Given the description of an element on the screen output the (x, y) to click on. 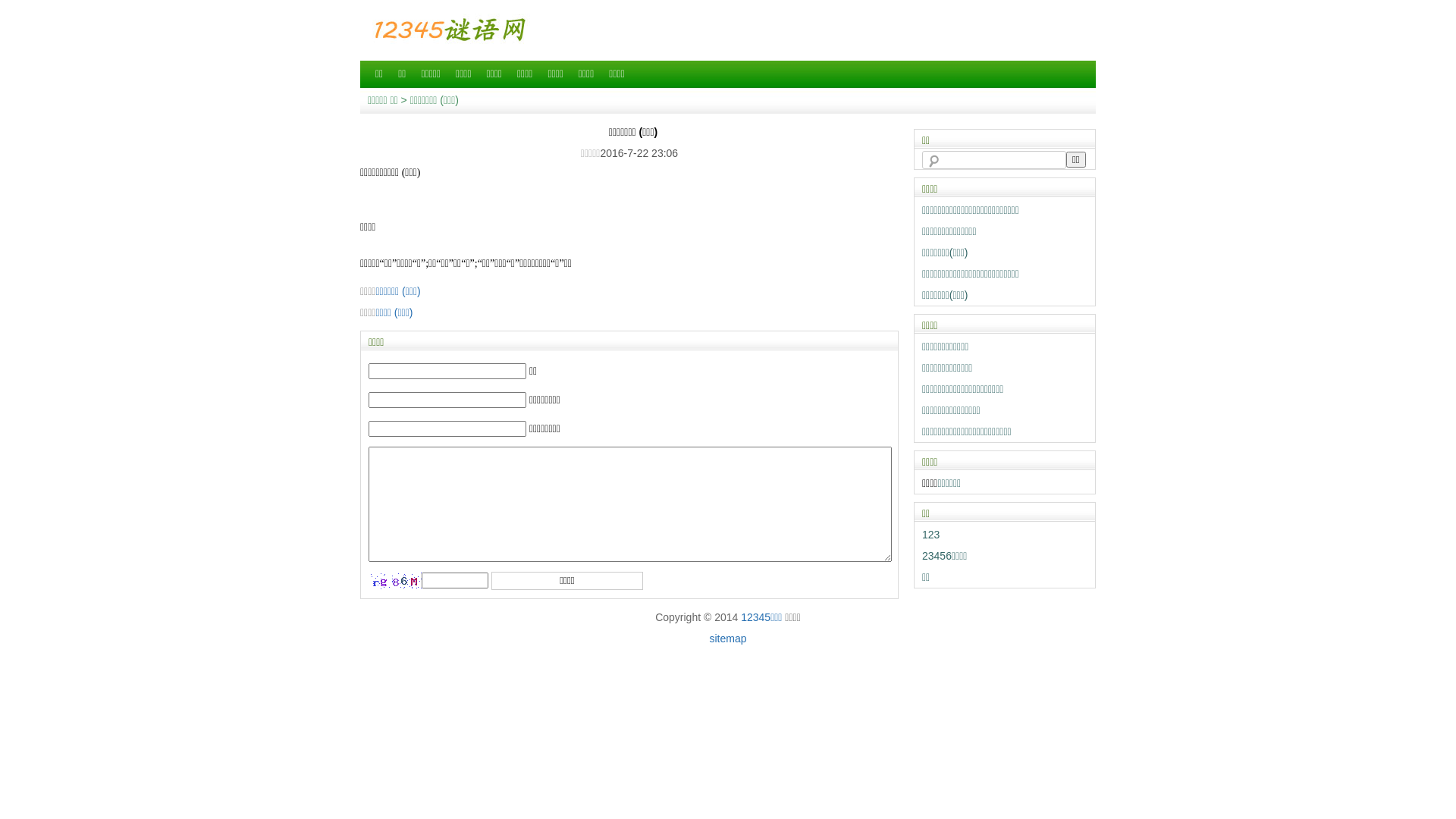
123 Element type: text (930, 534)
sitemap Element type: text (727, 638)
